Given the description of an element on the screen output the (x, y) to click on. 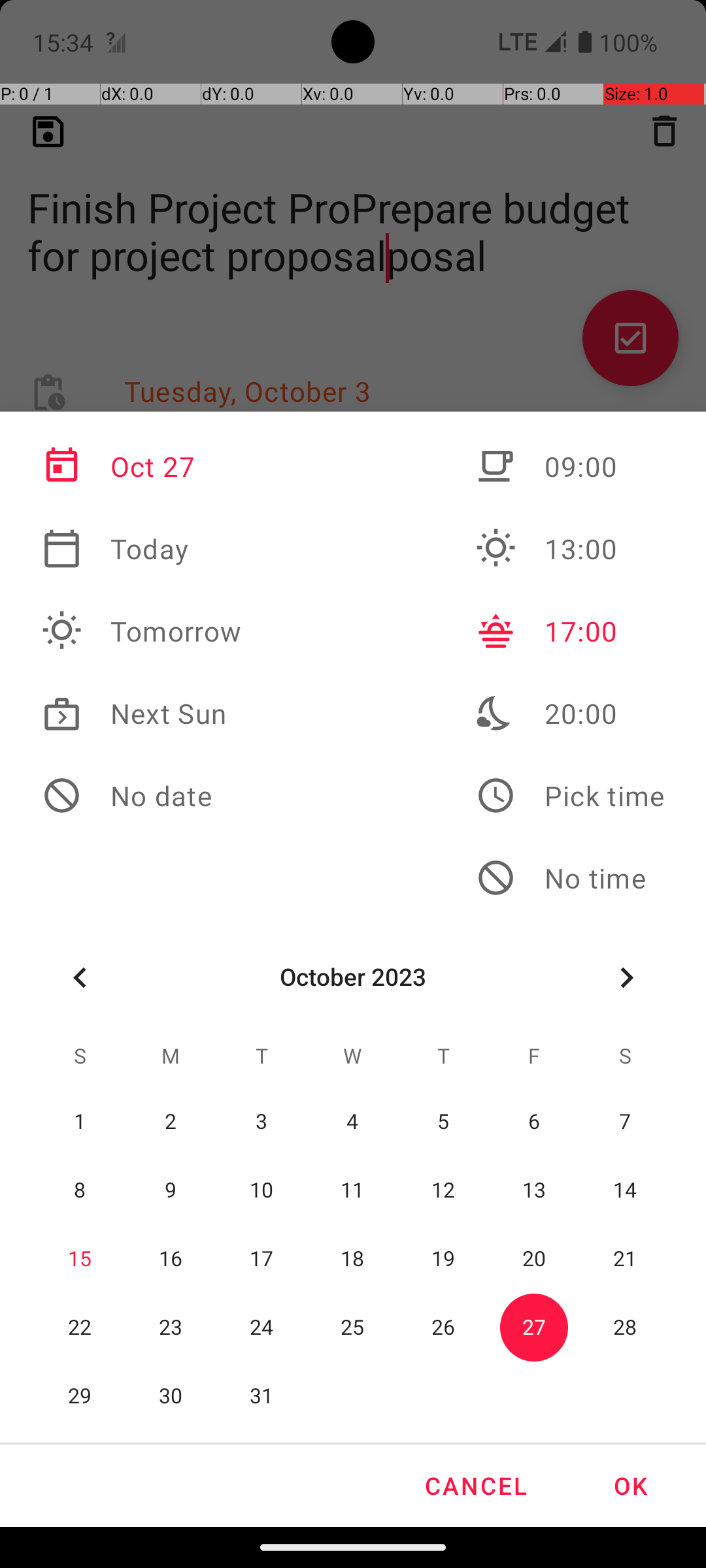
Oct 27 Element type: android.widget.CompoundButton (141, 466)
